Given the description of an element on the screen output the (x, y) to click on. 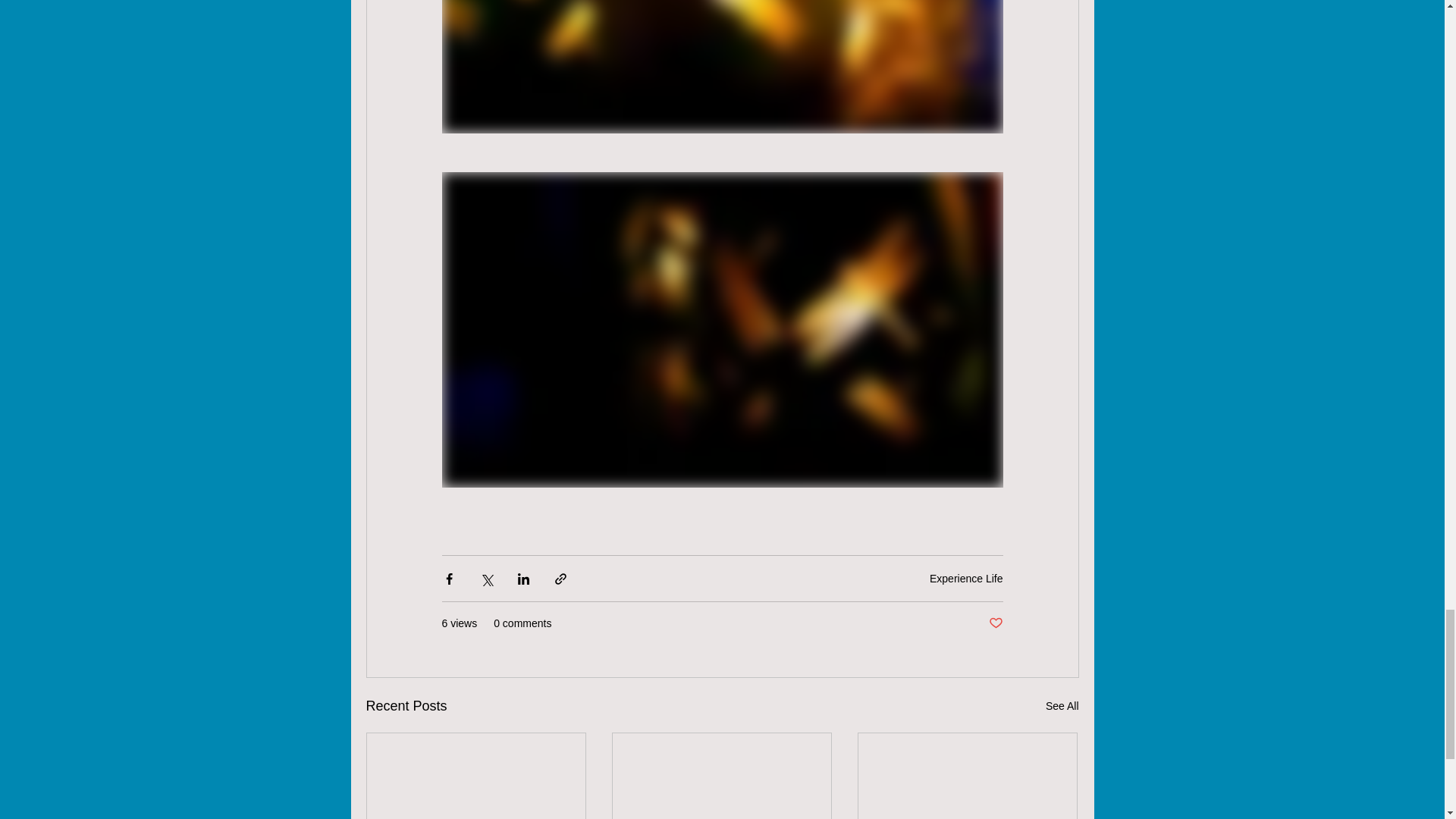
Experience Life (966, 578)
Post not marked as liked (995, 623)
See All (1061, 706)
